Given the description of an element on the screen output the (x, y) to click on. 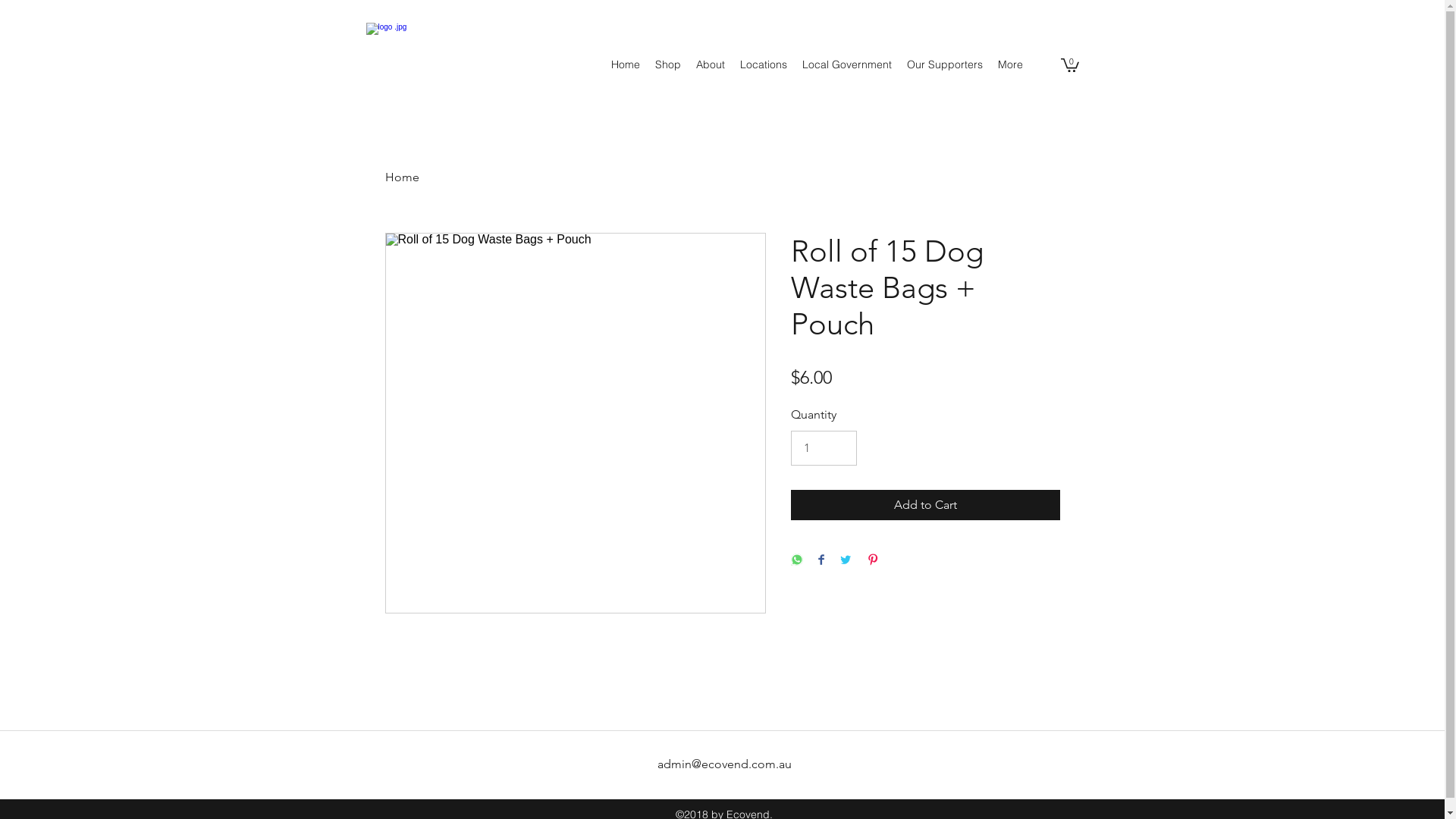
About Element type: text (710, 64)
Add to Cart Element type: text (924, 504)
Our Supporters Element type: text (944, 64)
Locations Element type: text (763, 64)
Home Element type: text (625, 64)
0 Element type: text (1069, 64)
admin@ecovend.com.au Element type: text (723, 763)
Home Element type: text (402, 176)
Shop Element type: text (667, 64)
Local Government Element type: text (846, 64)
